Given the description of an element on the screen output the (x, y) to click on. 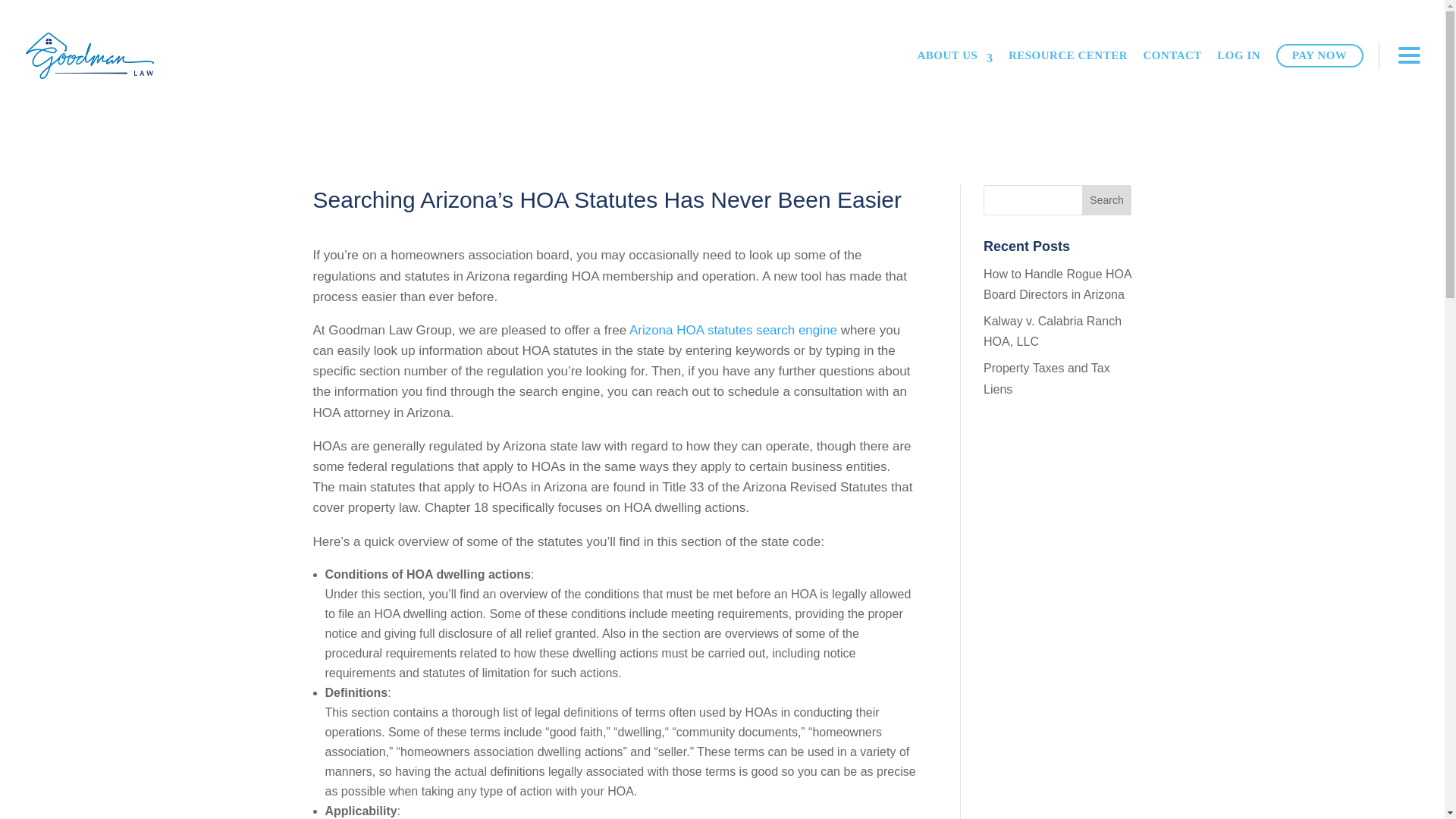
Search (1106, 200)
ABOUT US (954, 55)
PAY NOW (1319, 55)
Kalway v. Calabria Ranch HOA, LLC (1052, 331)
Property Taxes and Tax Liens (1046, 377)
How to Handle Rogue HOA Board Directors in Arizona (1057, 284)
LOG IN (1238, 55)
Arizona HOA statutes search engine (732, 329)
RESOURCE CENTER (1067, 55)
Search (1106, 200)
